Given the description of an element on the screen output the (x, y) to click on. 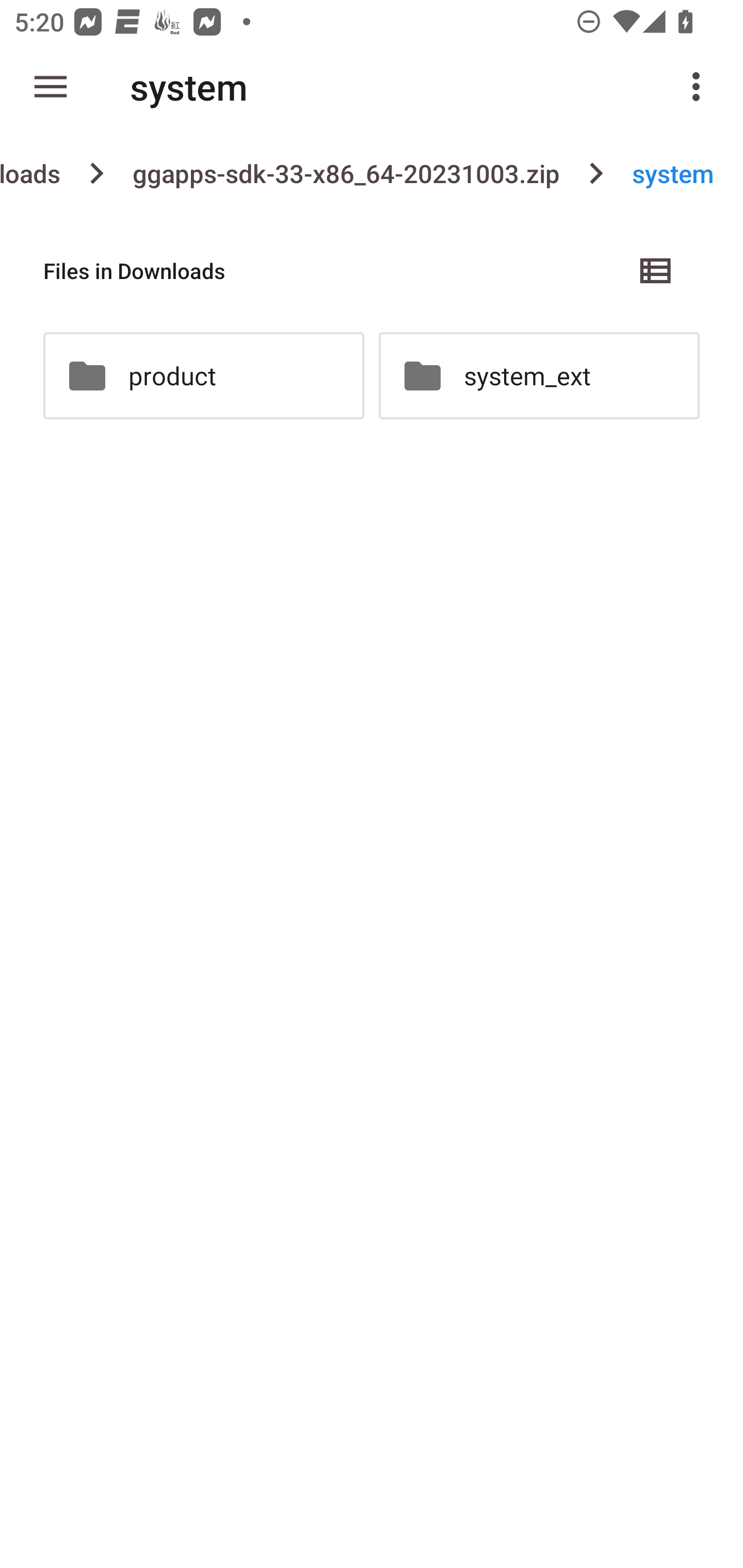
Show roots (50, 86)
More options (699, 86)
List view (655, 270)
product (203, 375)
system_ext (538, 375)
